Given the description of an element on the screen output the (x, y) to click on. 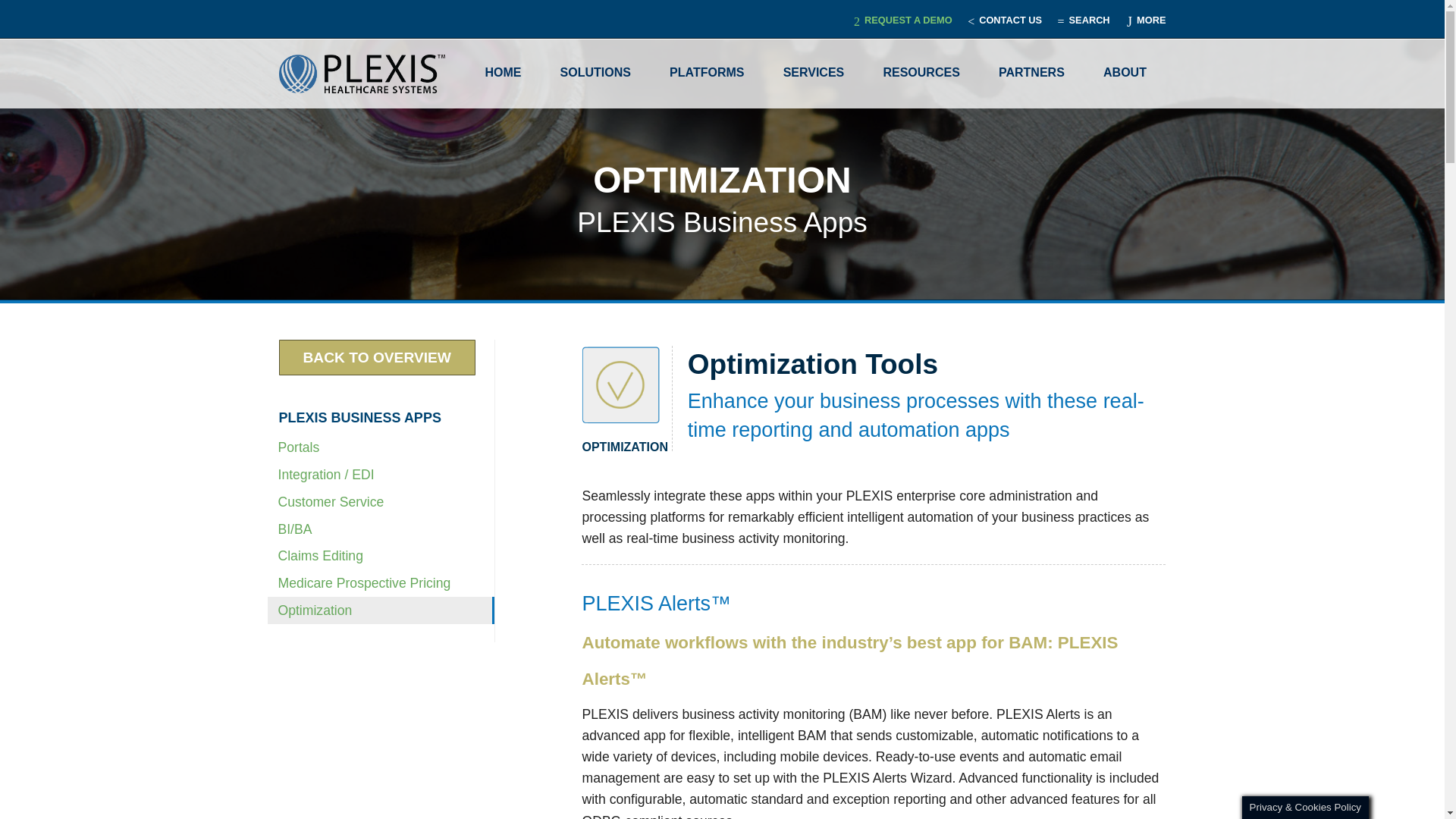
SEARCH (1083, 20)
REQUEST A DEMO (902, 20)
SOLUTIONS (595, 72)
CONTACT US (1004, 20)
MORE (1142, 18)
HOME (502, 72)
